Given the description of an element on the screen output the (x, y) to click on. 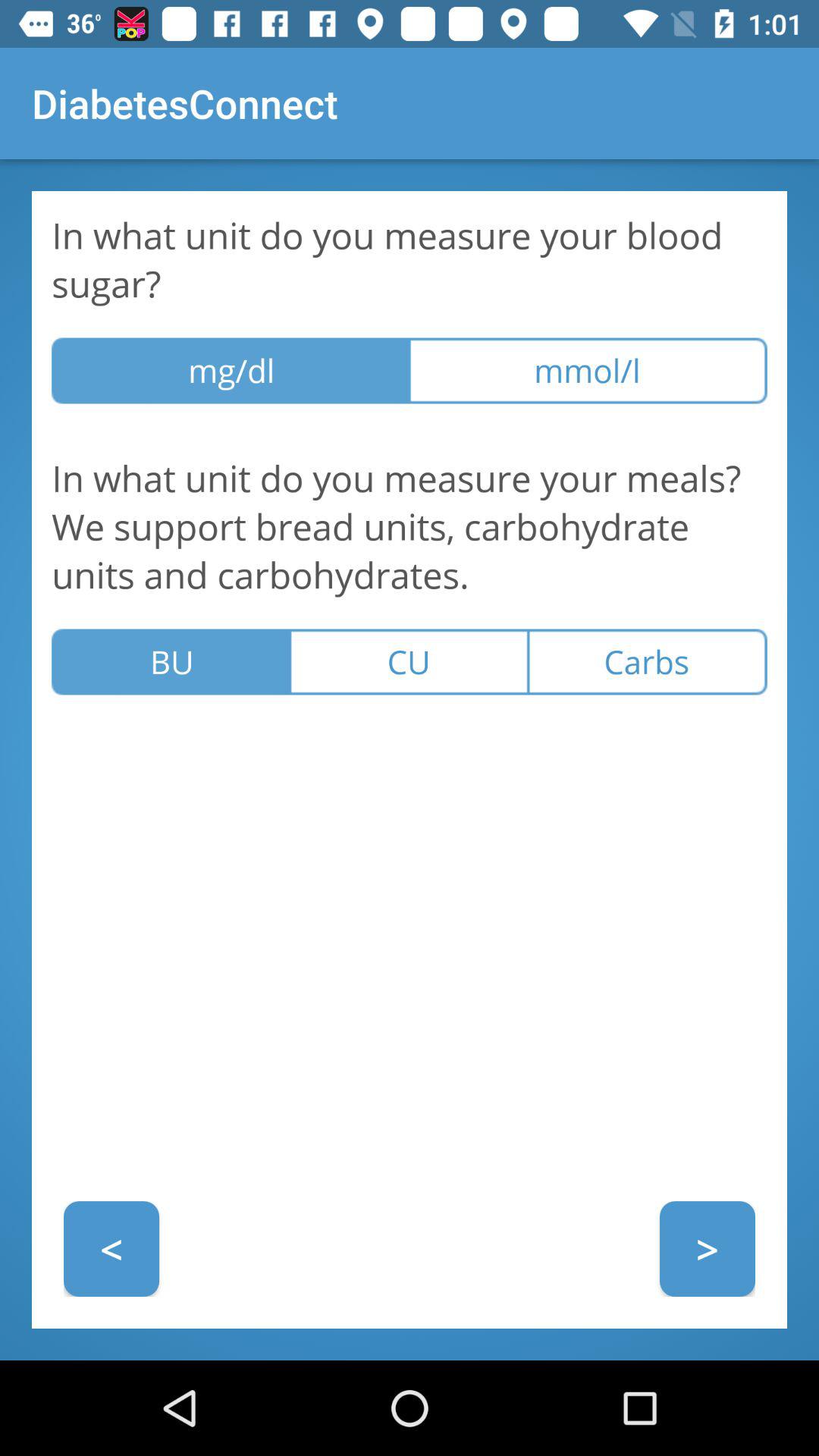
tap the > at the bottom right corner (707, 1248)
